Given the description of an element on the screen output the (x, y) to click on. 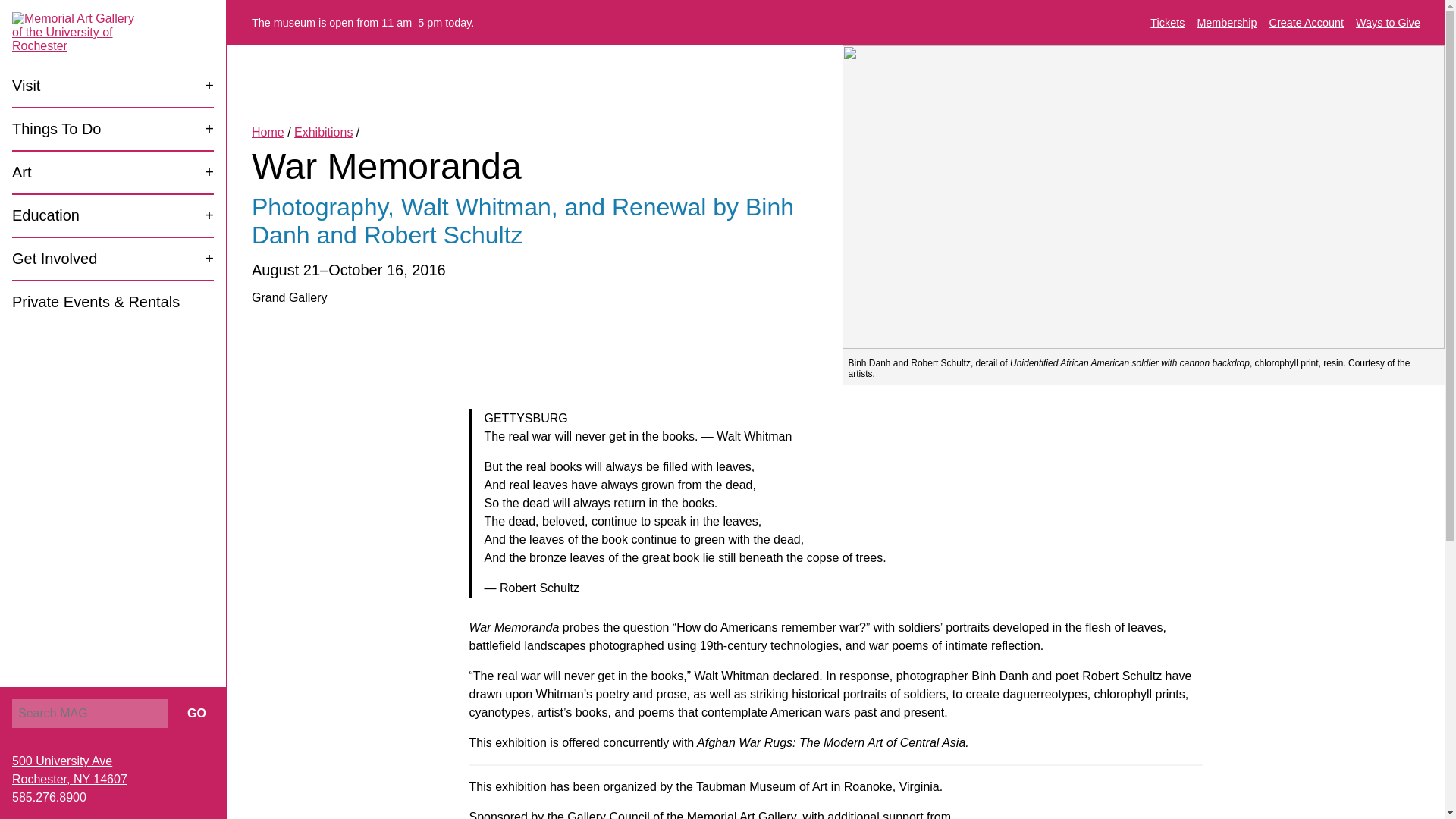
Home (267, 132)
Education (112, 215)
Visit (112, 85)
Ways to Give (1388, 22)
Art (112, 171)
Get Involved (112, 258)
Tickets (1167, 22)
Things To Do (112, 129)
GO (196, 713)
Membership (1226, 22)
